Given the description of an element on the screen output the (x, y) to click on. 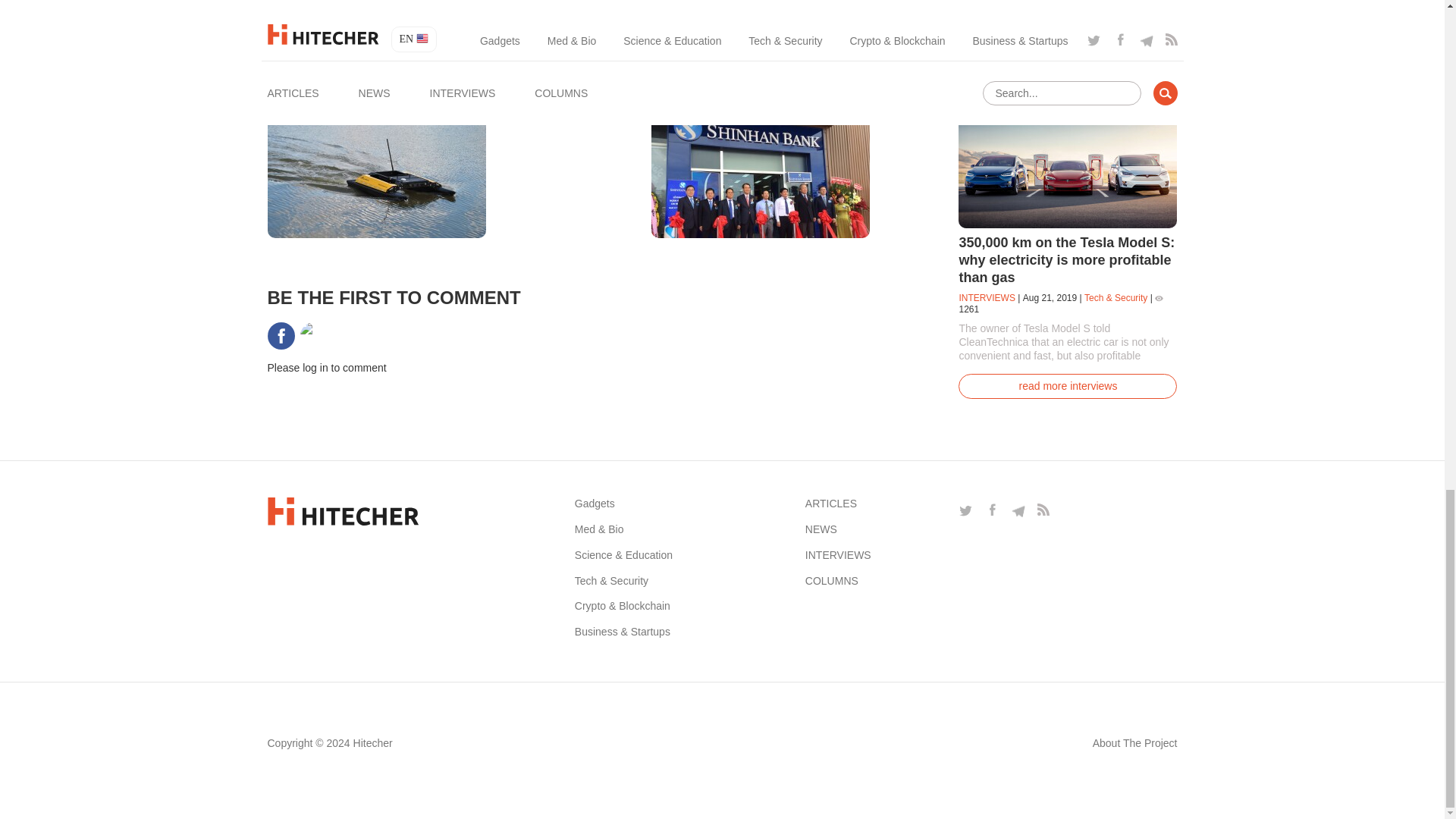
Aug 21, 2019 (1050, 297)
Aug 12, 2019 (408, 141)
